Given the description of an element on the screen output the (x, y) to click on. 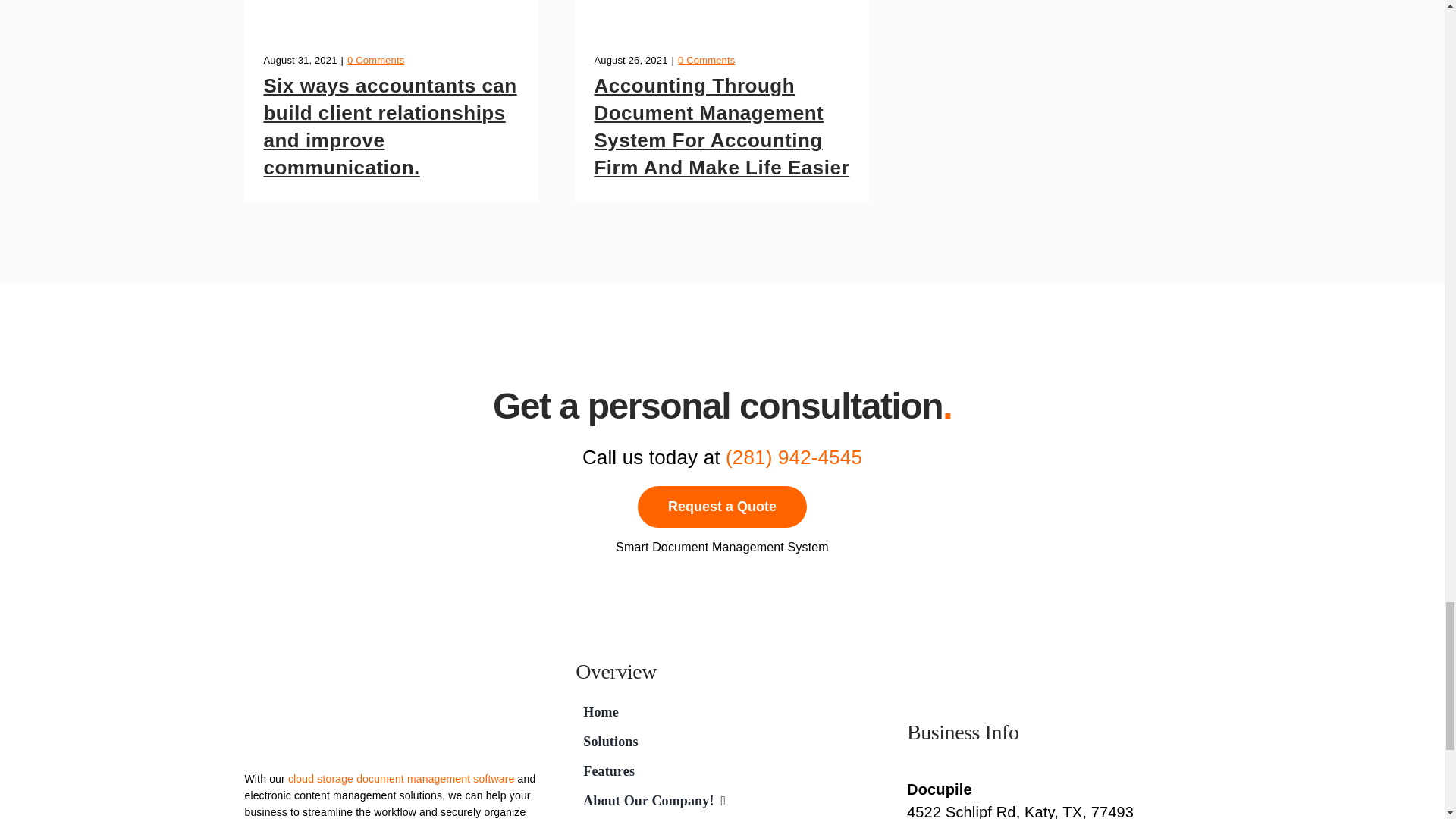
Docupile-Logo-long (301, 745)
